Given the description of an element on the screen output the (x, y) to click on. 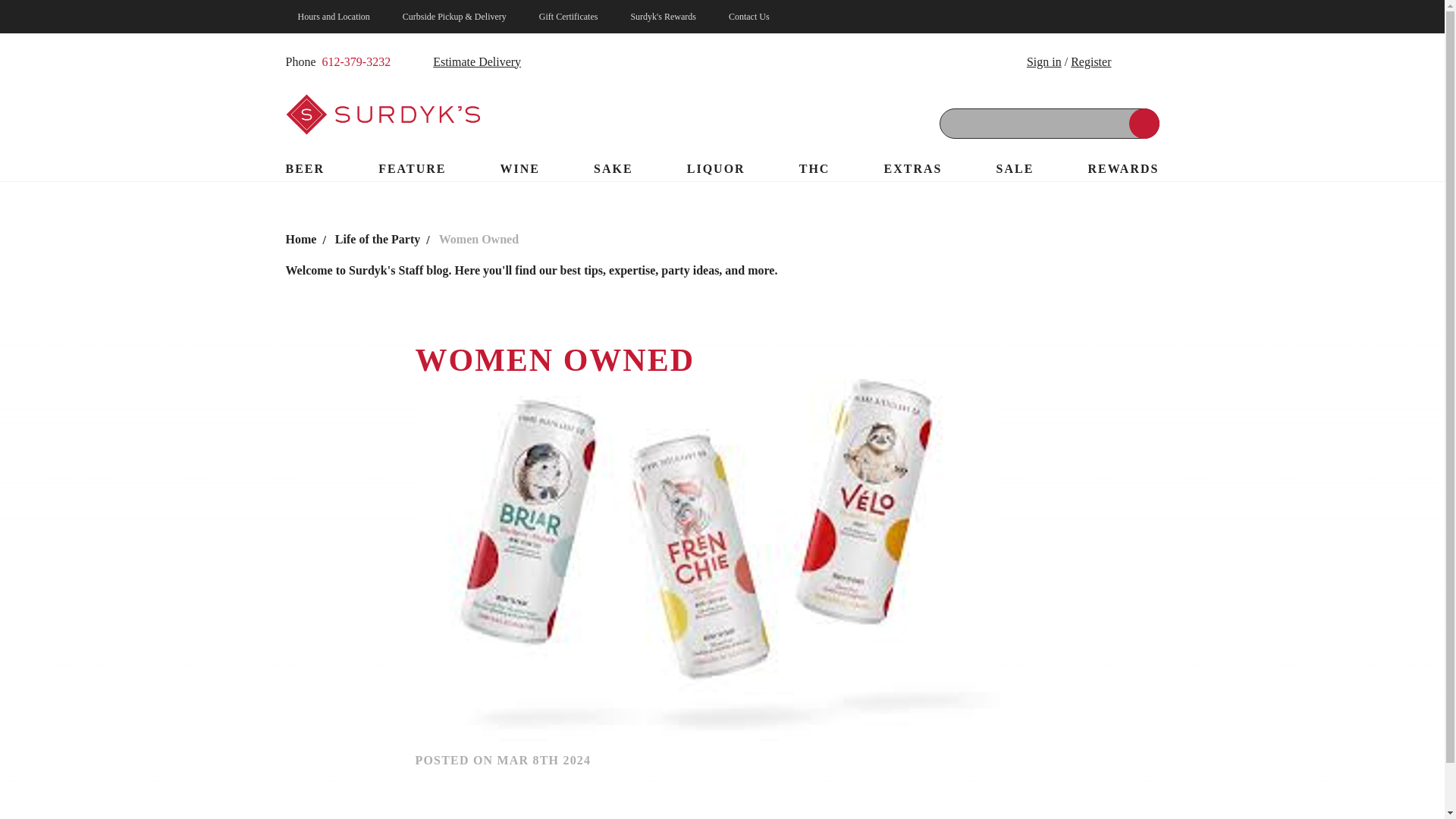
Estimate Delivery (465, 62)
Search (1143, 123)
Hours and Location (333, 16)
Gift Certificates (568, 16)
Cart (1139, 60)
612-379-3232 (355, 61)
Search (1143, 123)
Surdyk's (382, 114)
Sign in (1043, 60)
